Given the description of an element on the screen output the (x, y) to click on. 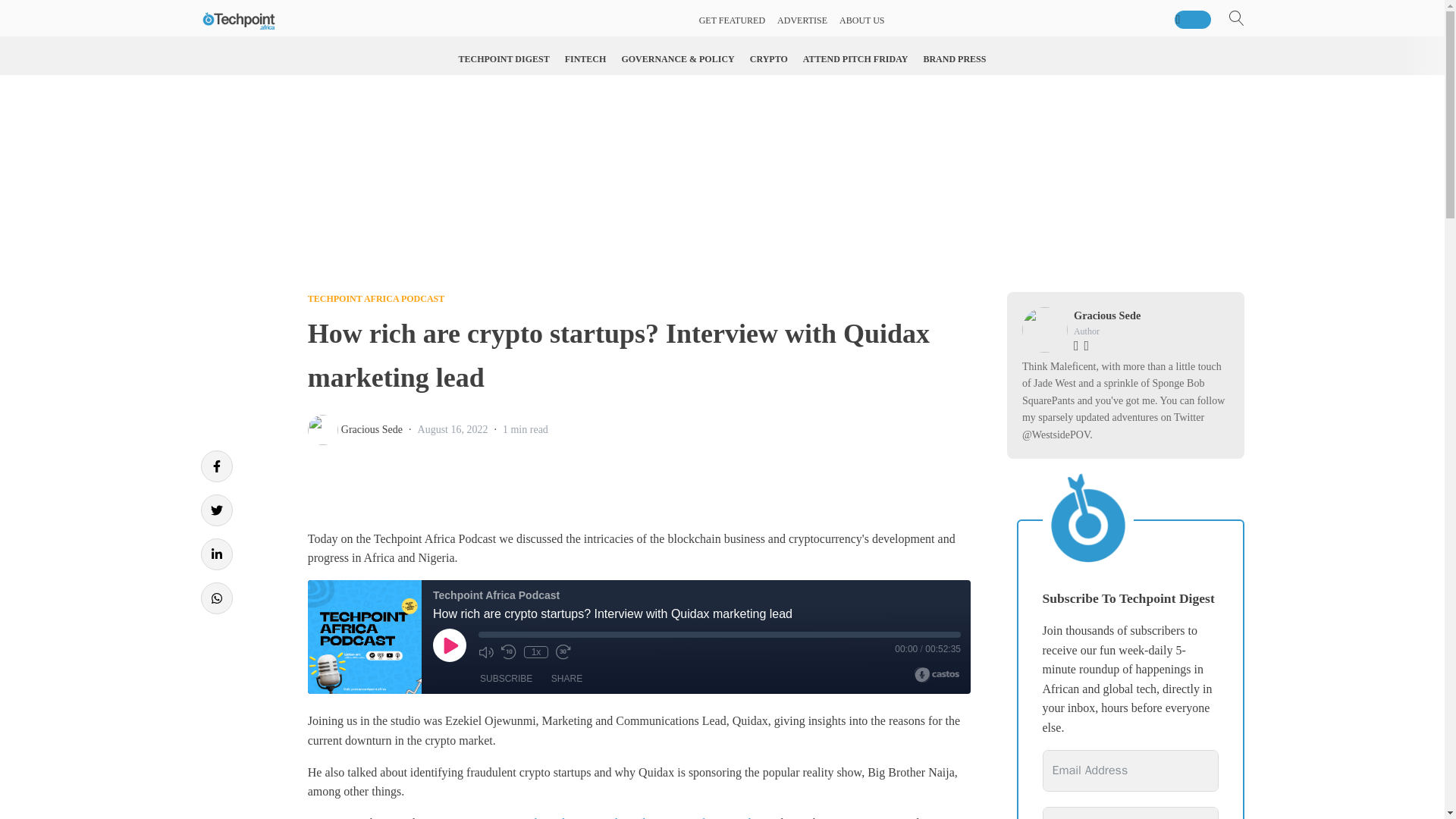
TECHPOINT DIGEST (504, 59)
YouTube (738, 817)
Spotify (692, 817)
Google Podcasts (547, 817)
Gracious Sede (371, 429)
Share on Twitter (215, 510)
GET FEATURED (731, 20)
Gracious Sede (1107, 315)
Share on Whatsapp (215, 598)
ABOUT US (861, 20)
TECHPOINT AFRICA PODCAST (375, 298)
ATTEND PITCH FRIDAY (854, 59)
Posts by Gracious Sede (371, 429)
Share on LinkedIn (215, 554)
CRYPTO (768, 59)
